Given the description of an element on the screen output the (x, y) to click on. 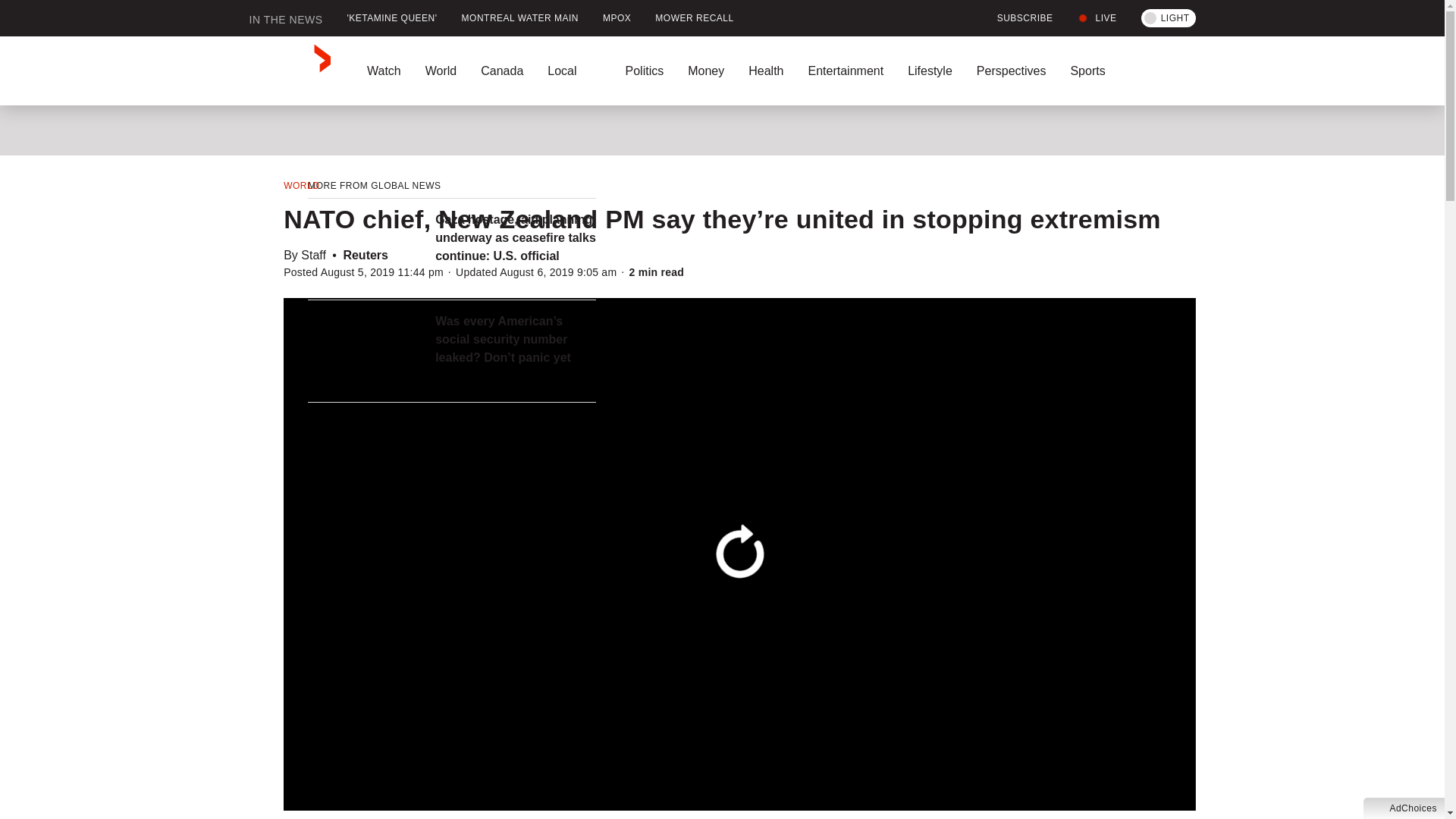
Lifestyle (929, 70)
Perspectives (1010, 70)
Politics (643, 70)
MPOX (617, 18)
GlobalNews home (289, 70)
LIVE (1096, 18)
SUBSCRIBE (1015, 18)
MONTREAL WATER MAIN (520, 18)
Local (573, 70)
